Given the description of an element on the screen output the (x, y) to click on. 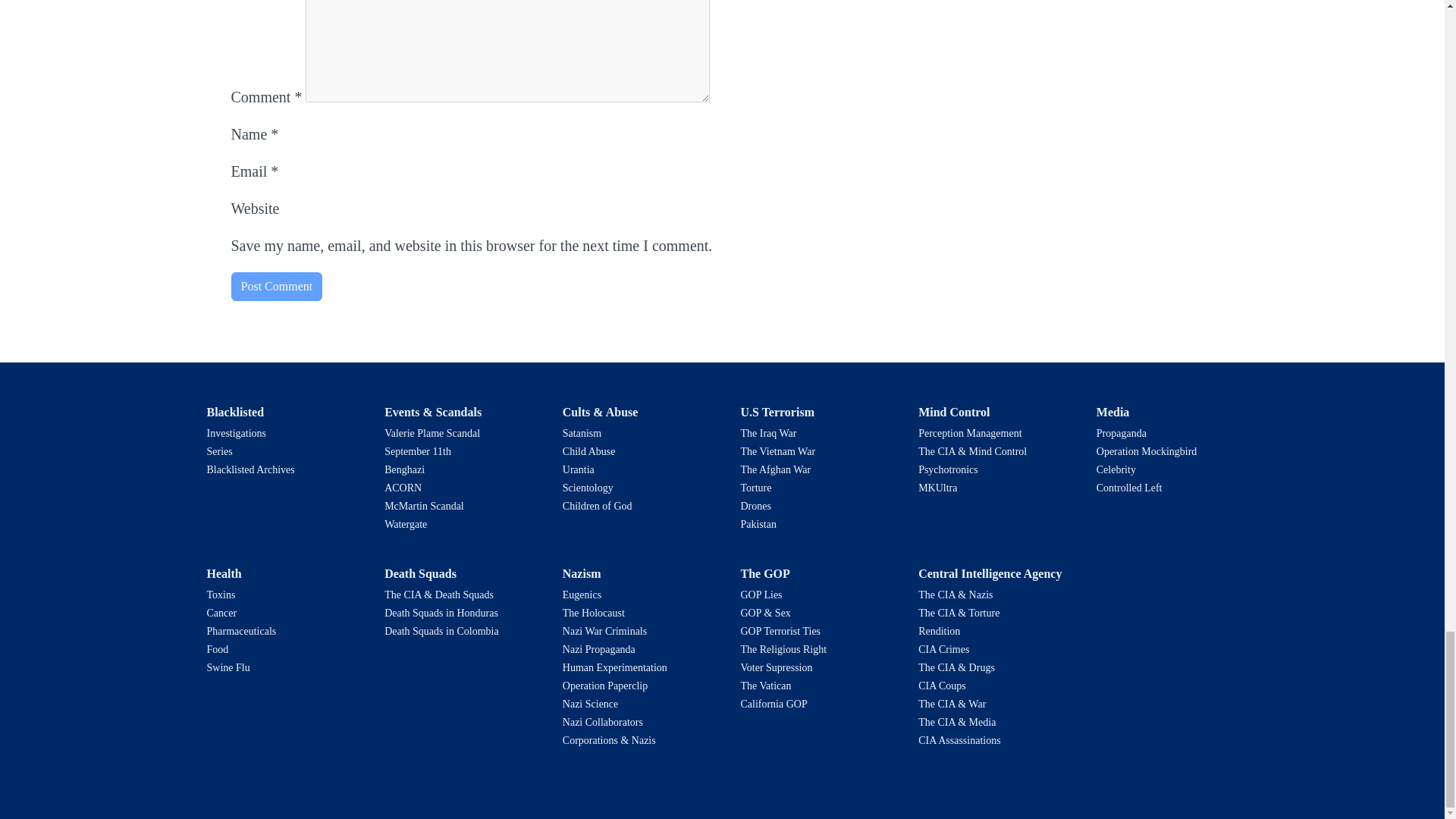
Post Comment (275, 286)
